Given the description of an element on the screen output the (x, y) to click on. 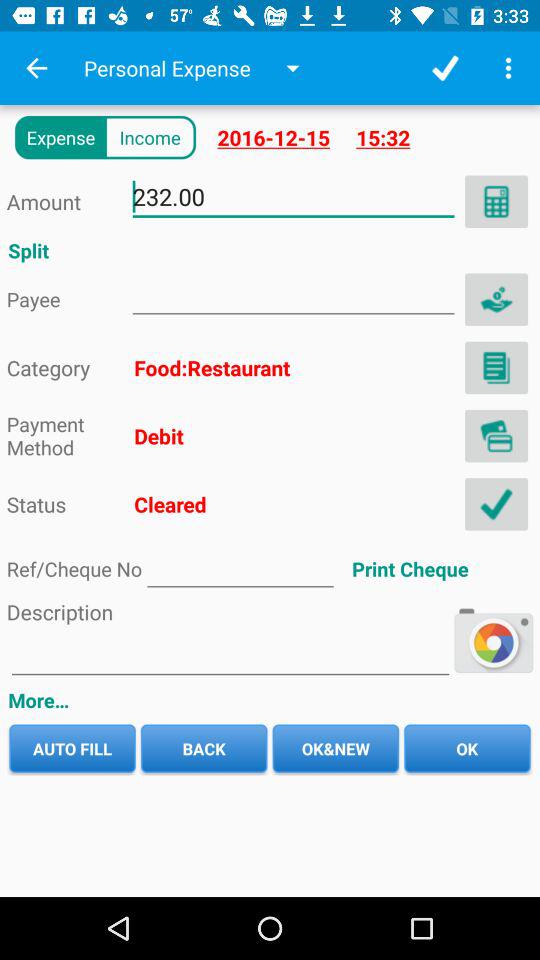
menu button (508, 67)
